Given the description of an element on the screen output the (x, y) to click on. 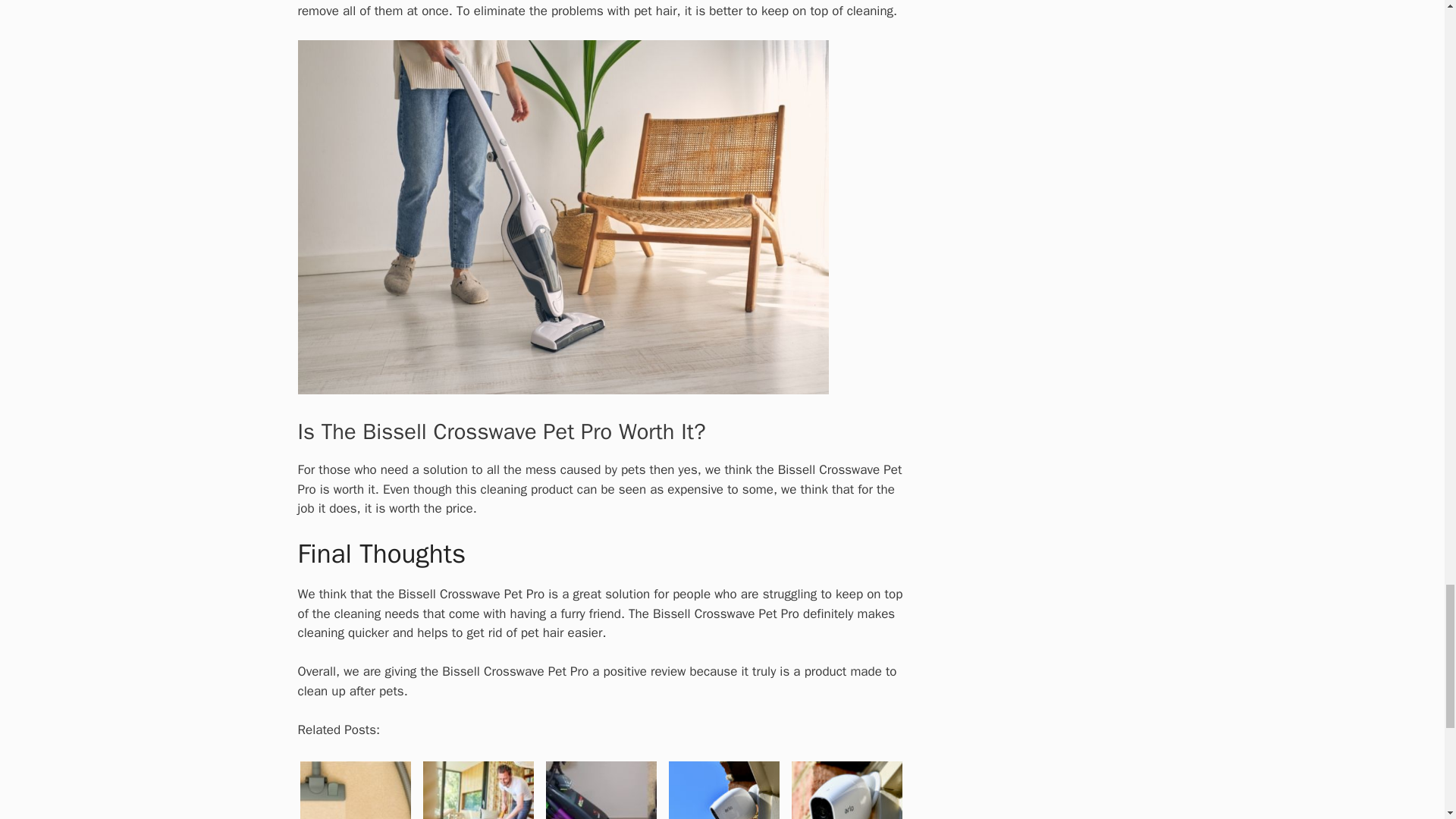
Bissell Crosswave Pet Pro Multi-Surface 2306a Reviews (354, 790)
Bissell Crosswave Pet Pro Multi-Surface 2306a Reviews (354, 789)
How To Charge Arlo Pro (722, 789)
Arlo VS Arlo Pro (847, 790)
How To Clean Bissell CrossWave (478, 790)
How To Clean Bissell CrossWave (477, 789)
How To Use Bissell Proheat Pet (601, 790)
How To Charge Arlo Pro (723, 790)
How To Use Bissell Proheat Pet (600, 789)
